Given the description of an element on the screen output the (x, y) to click on. 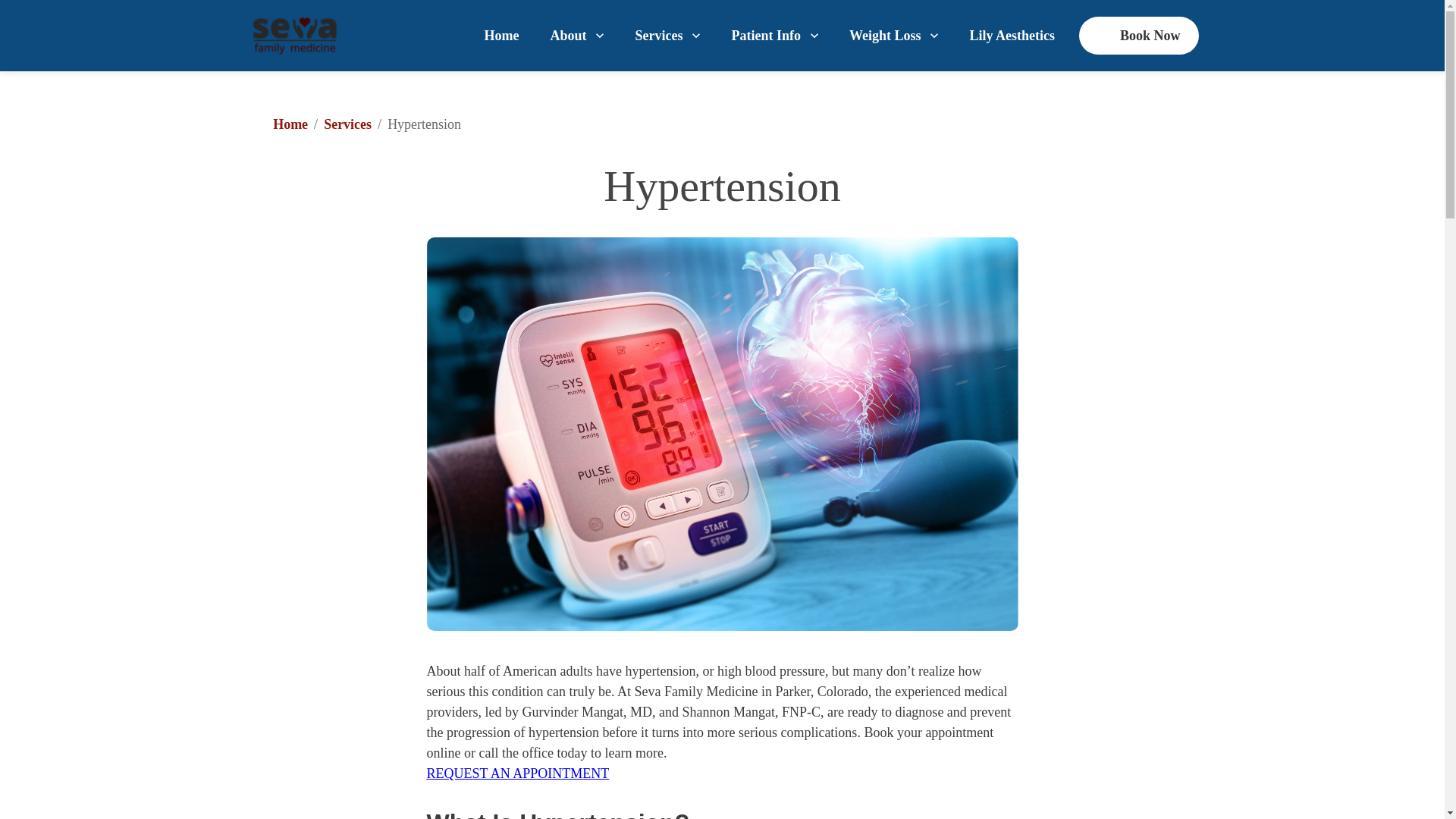
Home (290, 124)
Services (347, 124)
Patient Info (775, 35)
Weight Loss (893, 35)
REQUEST AN APPOINTMENT (517, 773)
Lily Aesthetics (1011, 35)
Services (667, 35)
About (576, 35)
Home (501, 35)
Book Now (1138, 35)
